Given the description of an element on the screen output the (x, y) to click on. 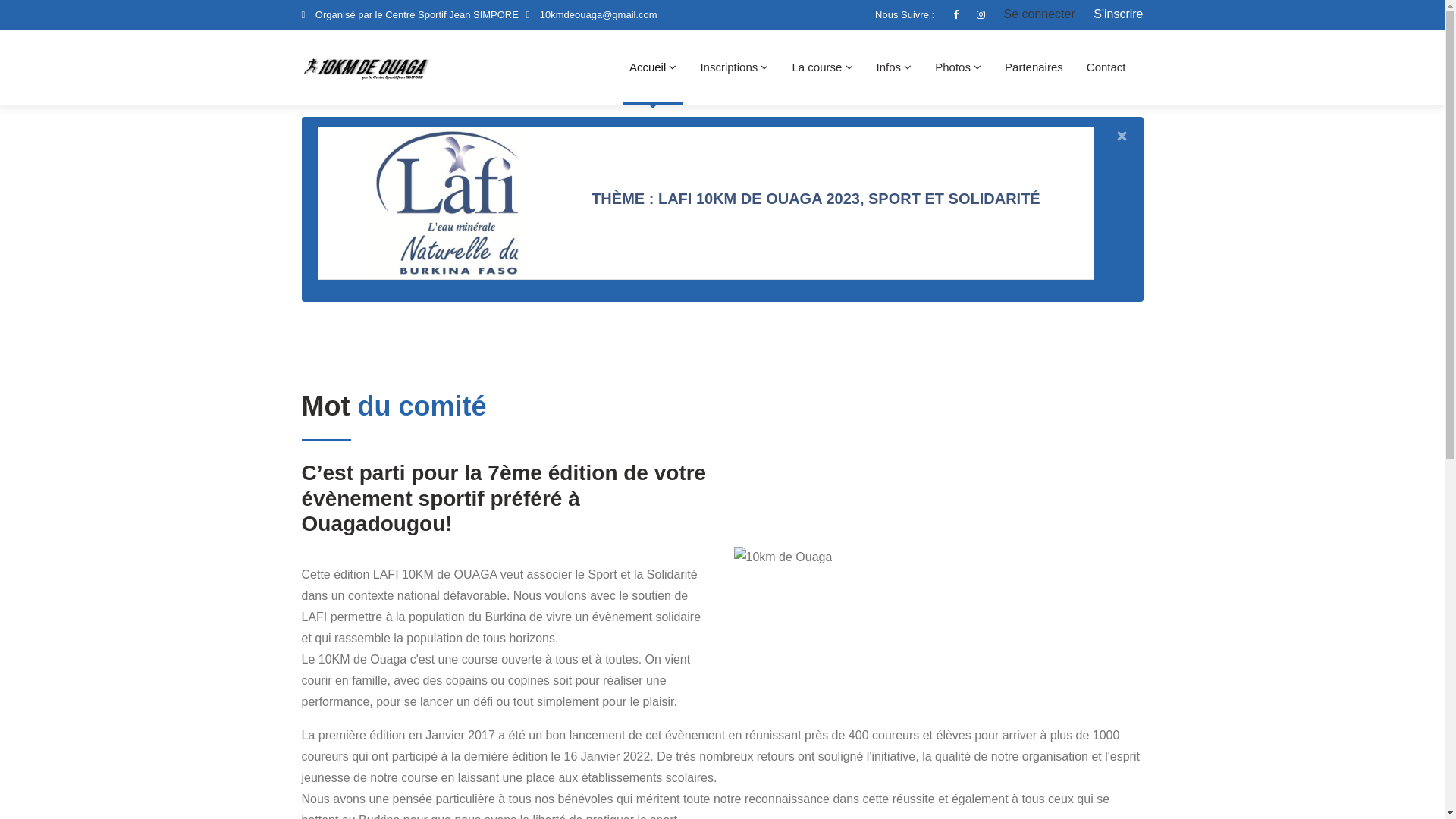
Se connecter Element type: text (1031, 13)
Inscriptions Element type: text (733, 67)
Infos Element type: text (894, 67)
S'inscrire Element type: text (1110, 13)
La course Element type: text (821, 67)
Photos Element type: text (957, 67)
Accueil Element type: text (653, 67)
10kmdeouaga@gmail.com Element type: text (598, 14)
Partenaires Element type: text (1033, 67)
Contact Element type: text (1106, 67)
